Given the description of an element on the screen output the (x, y) to click on. 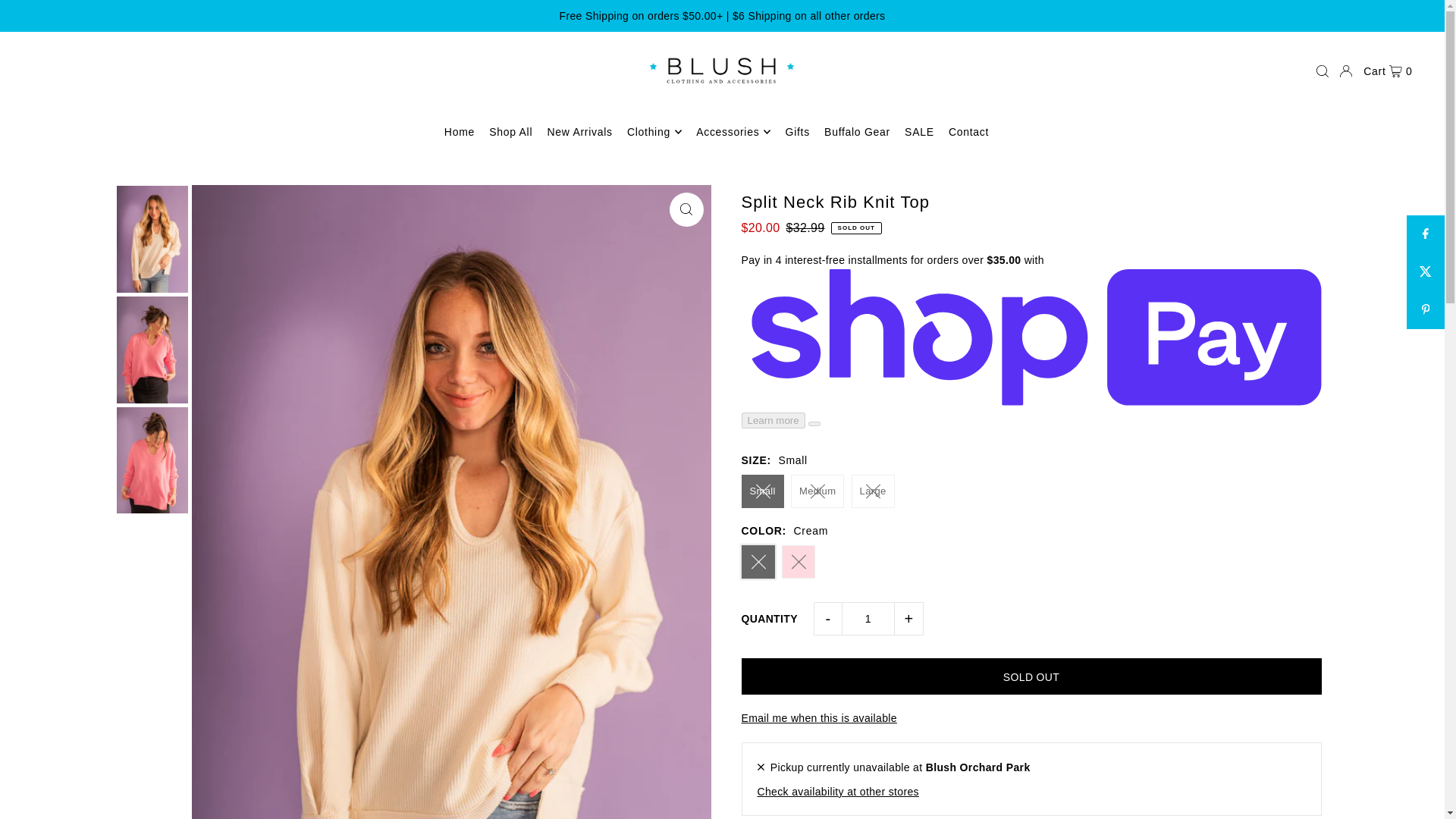
Clothing (654, 131)
Click to zoom (685, 209)
Shop All (510, 131)
Cart (1387, 71)
New Arrivals (579, 131)
Sold Out (1031, 676)
1 (868, 618)
